Given the description of an element on the screen output the (x, y) to click on. 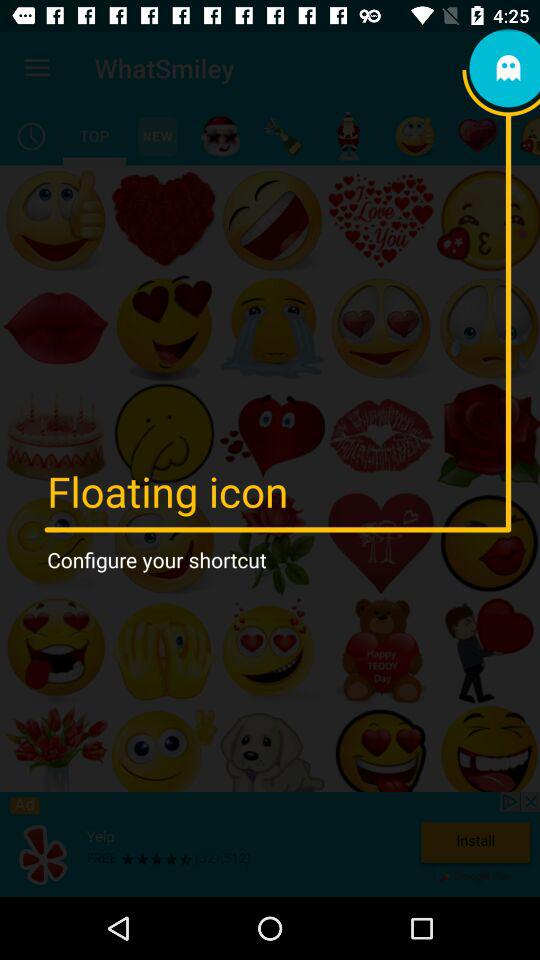
choose emoji (220, 136)
